Given the description of an element on the screen output the (x, y) to click on. 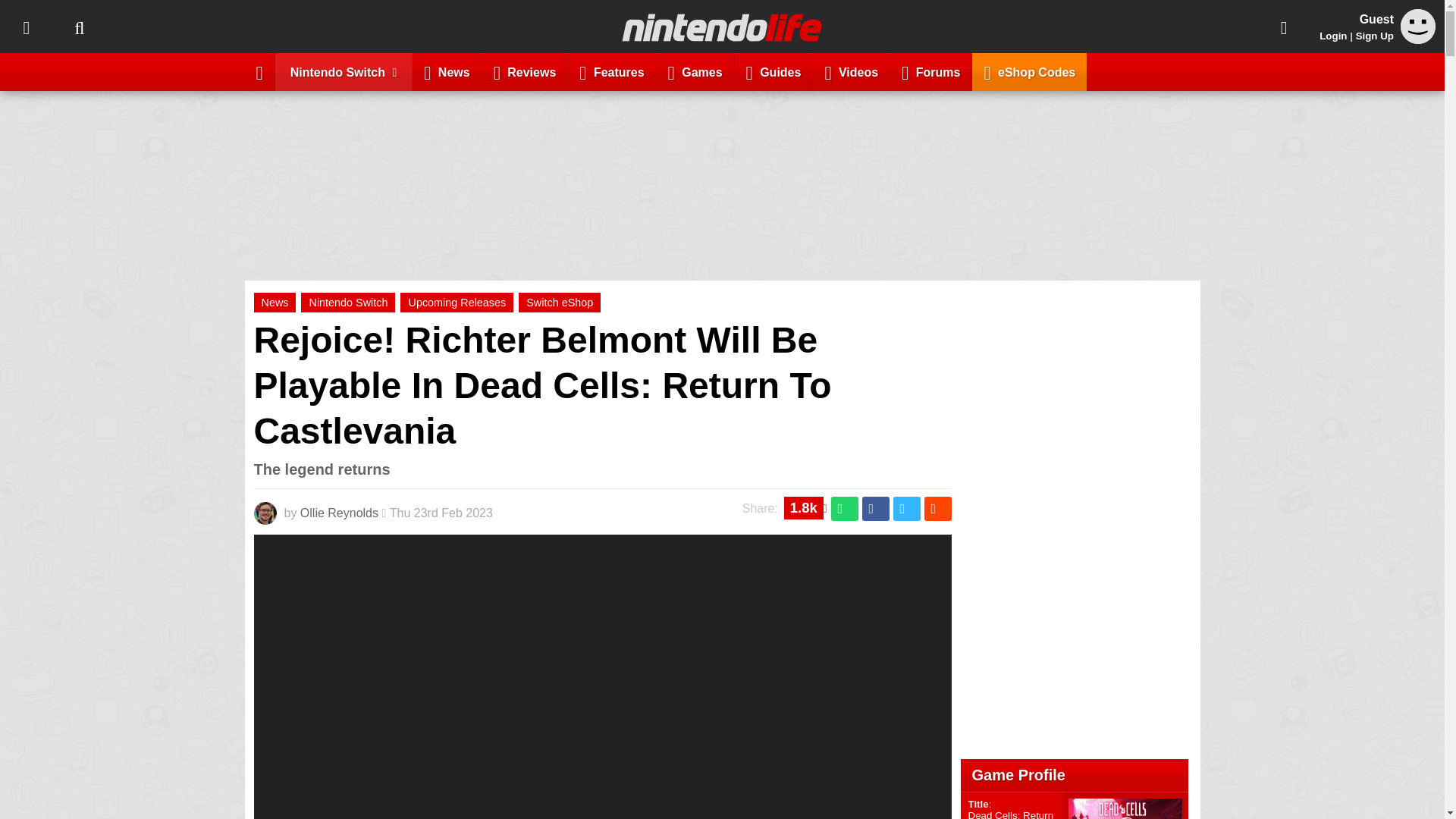
Share This Page (1283, 26)
Nintendo Life (721, 27)
Nintendo Switch (347, 302)
Login (1332, 35)
Share this on Reddit (936, 508)
Guides (774, 71)
News (446, 71)
eShop Codes (1029, 71)
Games (695, 71)
Upcoming Releases (456, 302)
Nintendo Life (721, 27)
Ollie Reynolds (338, 512)
Switch eShop (558, 302)
Search (79, 26)
Share this on WhatsApp (845, 508)
